Given the description of an element on the screen output the (x, y) to click on. 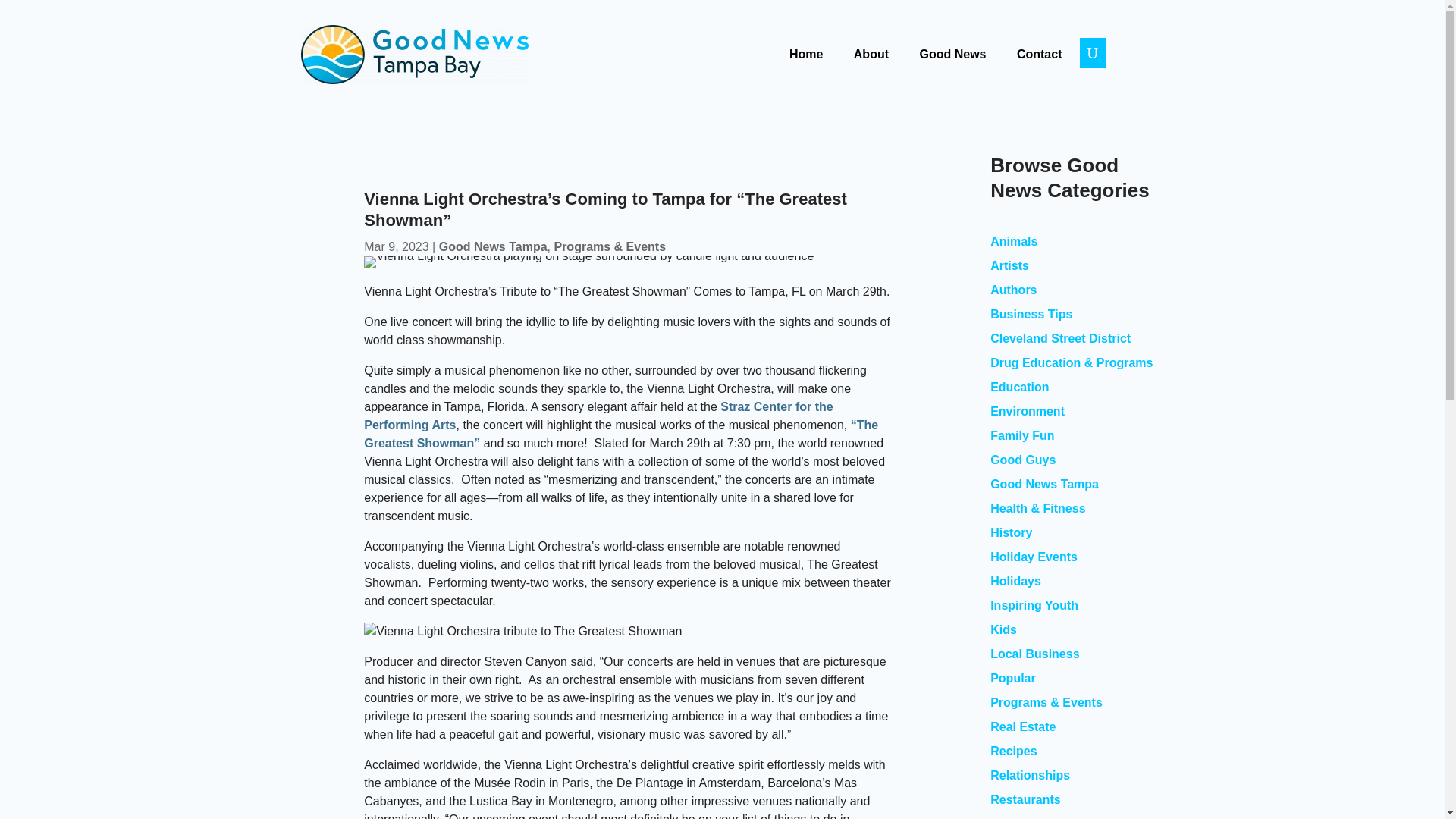
Education (1019, 386)
Real Estate (1022, 726)
Family Fun (1022, 435)
Vienna (588, 262)
Recipes (1013, 750)
Good Guys (1022, 459)
Inspiring Youth (1034, 604)
Good News Tampa (1044, 483)
Environment (1027, 410)
Good News Tampa (493, 246)
